Given the description of an element on the screen output the (x, y) to click on. 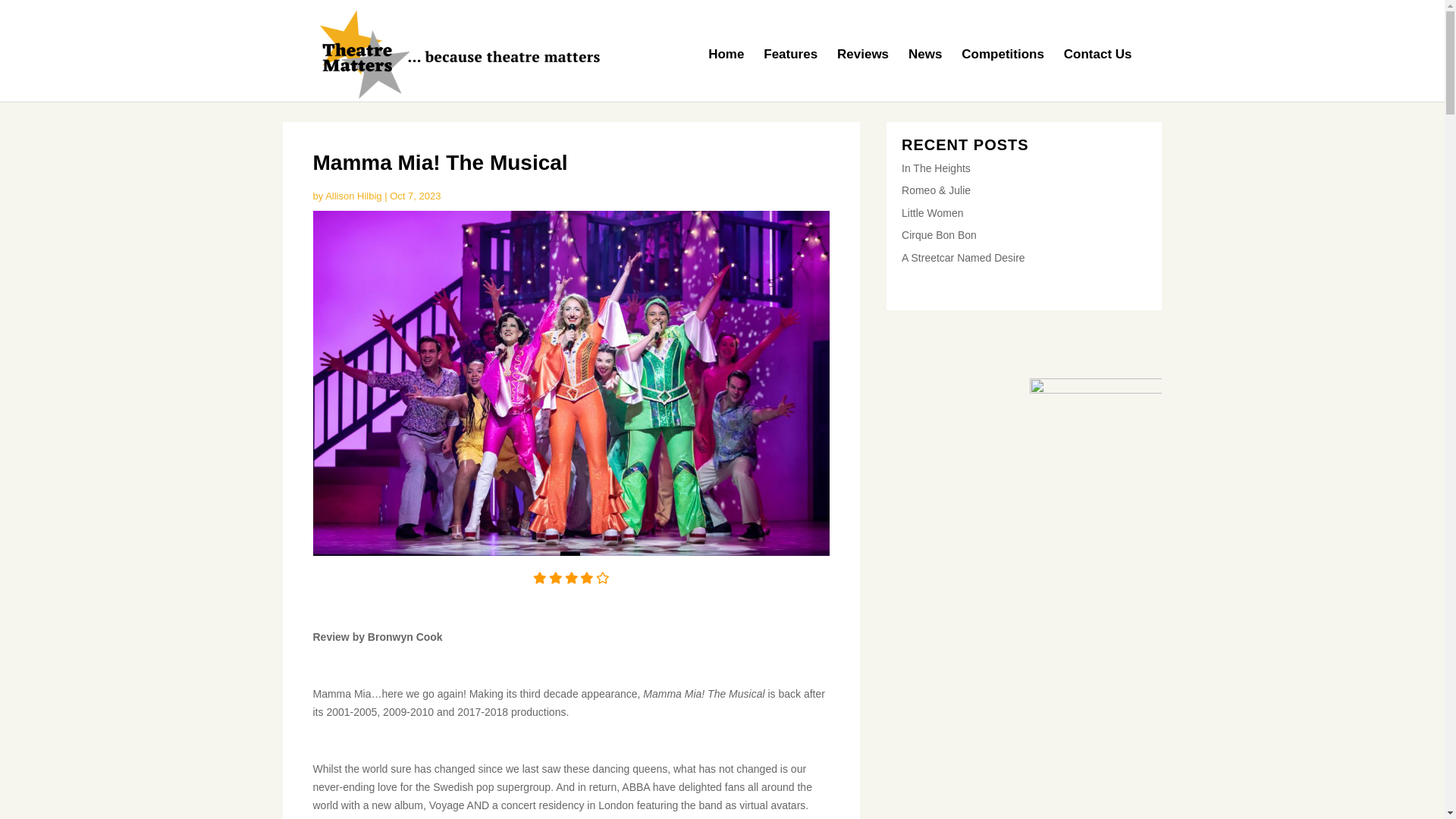
Features (789, 75)
Cirque Bon Bon (938, 234)
Reviews (862, 75)
A Streetcar Named Desire (963, 257)
Allison Hilbig (352, 195)
Little Women (931, 213)
Combined-Stars (1095, 444)
Contact Us (1098, 75)
In The Heights (936, 168)
Posts by Allison Hilbig (352, 195)
Competitions (1001, 75)
